Given the description of an element on the screen output the (x, y) to click on. 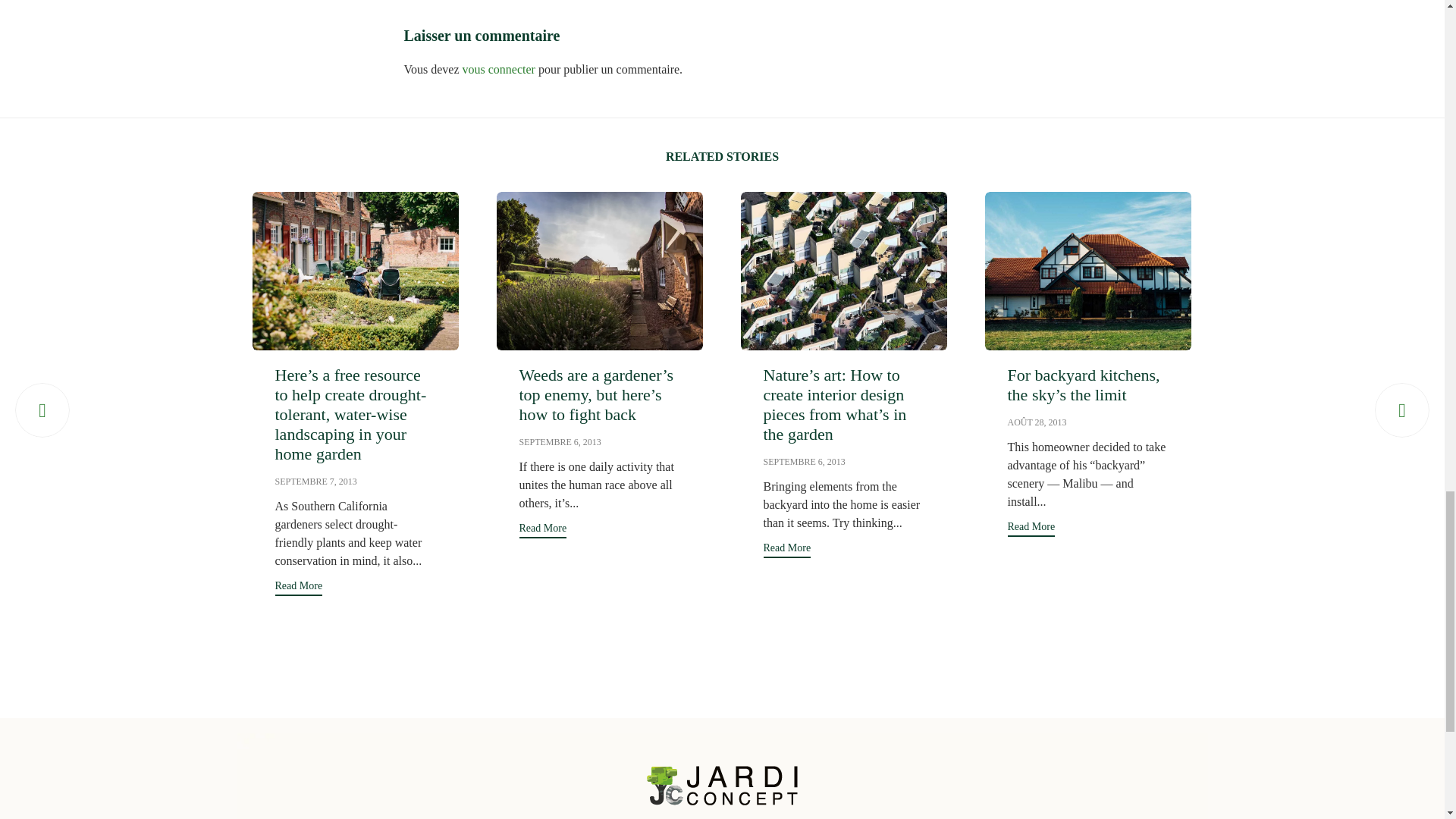
Read More (298, 587)
SEPTEMBRE 7, 2013 (315, 480)
vous connecter (499, 69)
